Given the description of an element on the screen output the (x, y) to click on. 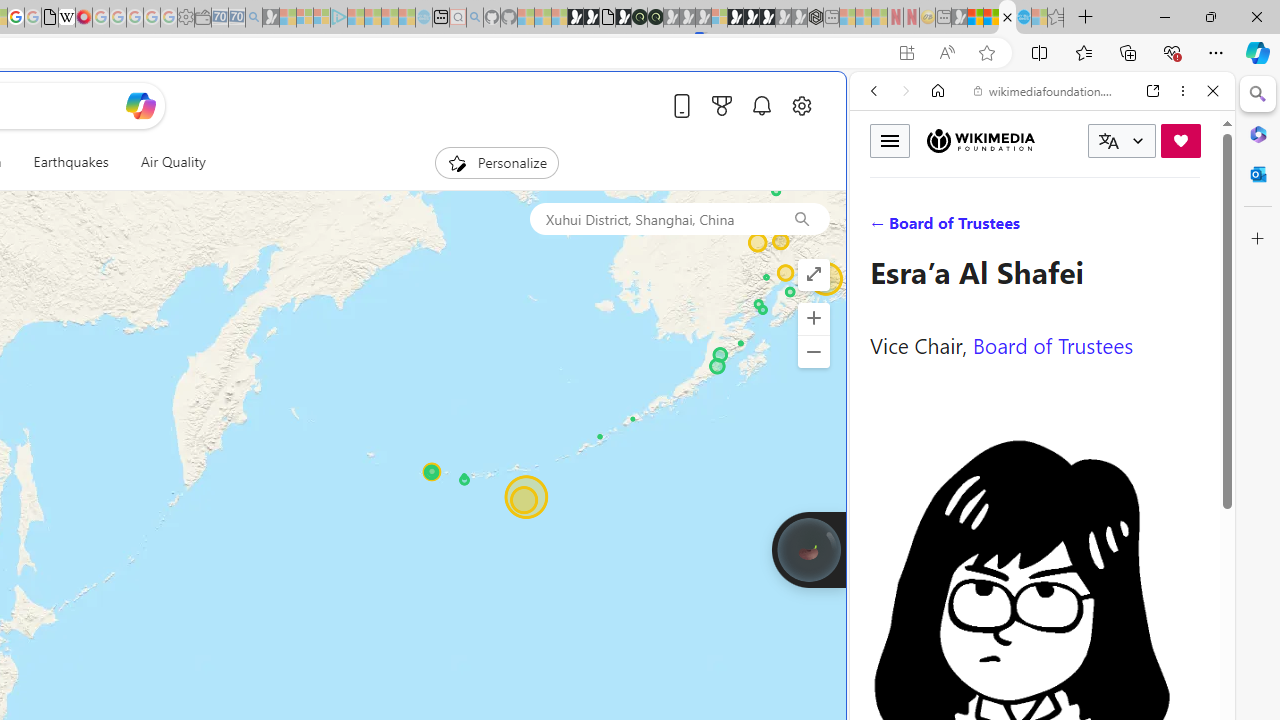
google_privacy_policy_zh-CN.pdf (49, 17)
Earthquakes (70, 162)
Class: i icon icon-translate language-switcher__icon (1108, 141)
Join us in planting real trees to help our planet! (808, 549)
VIDEOS (1006, 228)
Microsoft account | Privacy - Sleeping (321, 17)
Future Focus Report 2024 (655, 17)
